Given the description of an element on the screen output the (x, y) to click on. 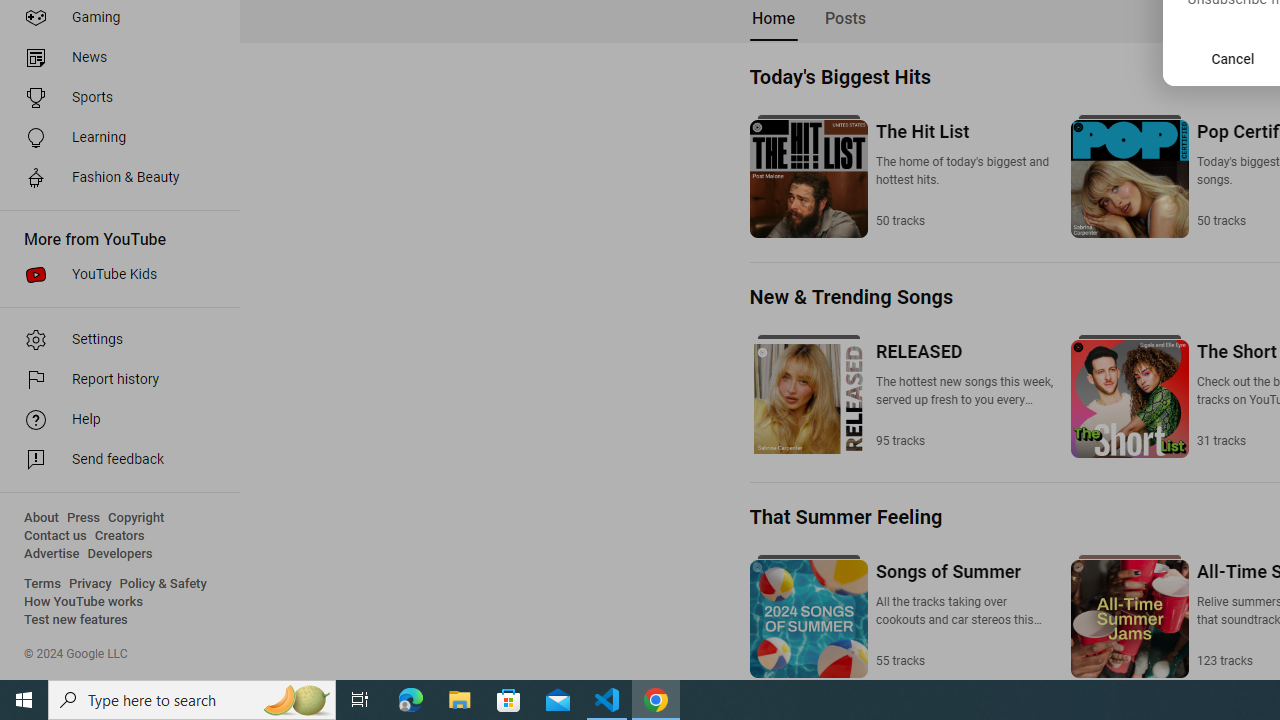
Developers (120, 554)
News (113, 57)
Contact us (55, 536)
Press (83, 518)
Test new features (76, 620)
Advertise (51, 554)
How YouTube works (83, 602)
Policy & Safety (163, 584)
Copyright (136, 518)
Learning (113, 137)
Fashion & Beauty (113, 177)
